Given the description of an element on the screen output the (x, y) to click on. 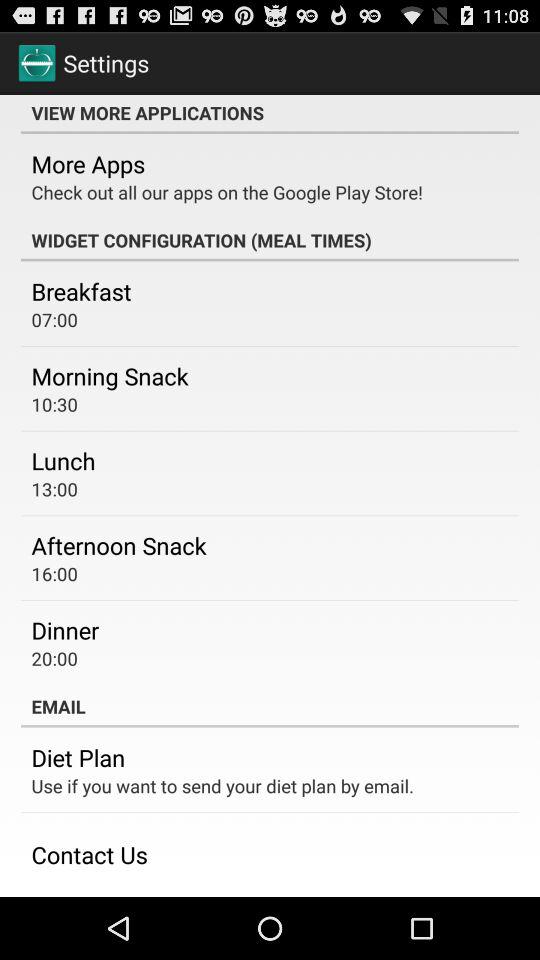
launch the icon below morning snack icon (54, 403)
